Given the description of an element on the screen output the (x, y) to click on. 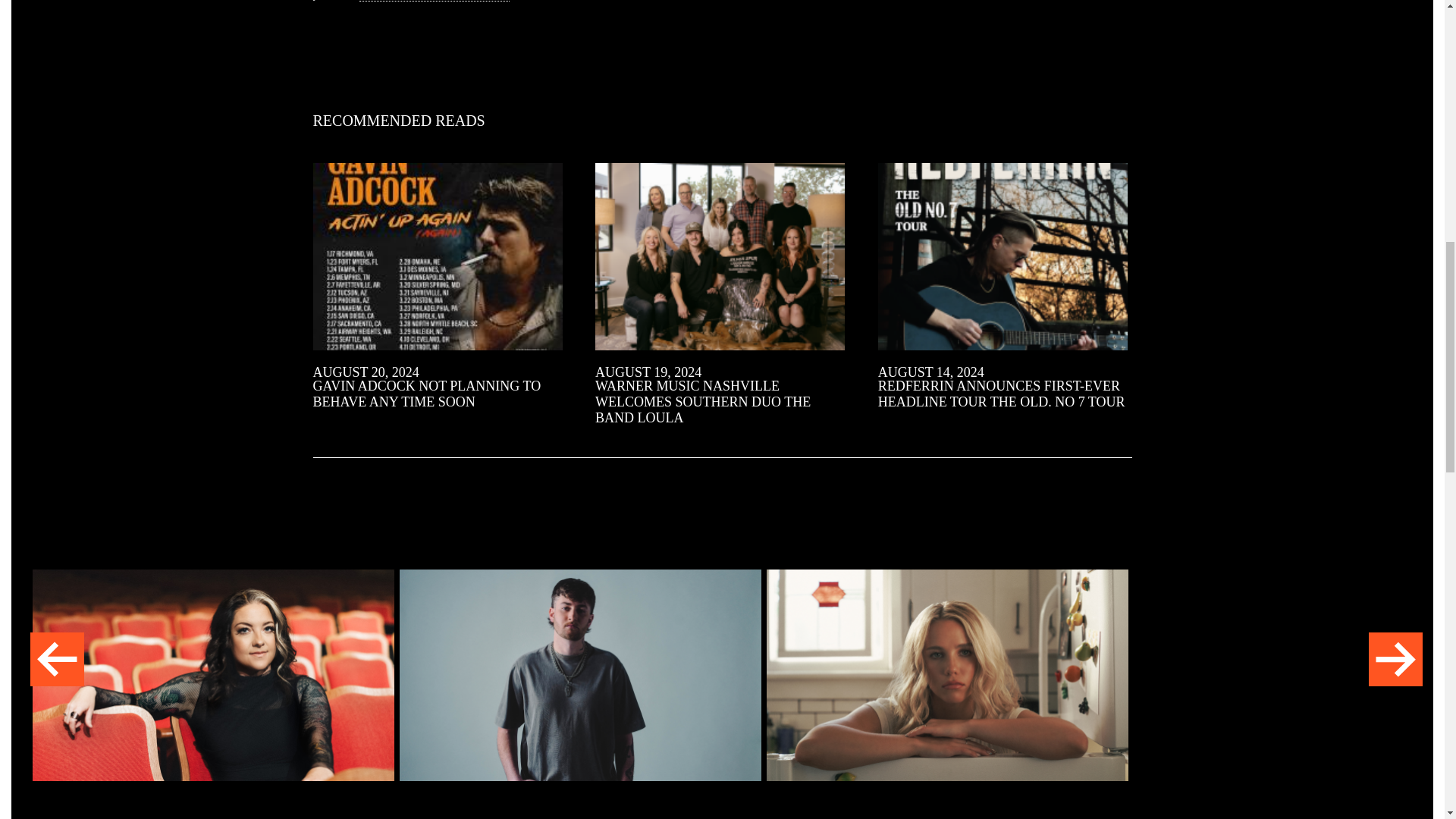
GAVIN ADCOCK NOT PLANNING TO BEHAVE ANY TIME SOON (426, 393)
WARNER MUSIC NASHVILLE WELCOMES SOUTHERN DUO THE BAND LOULA (702, 401)
